Given the description of an element on the screen output the (x, y) to click on. 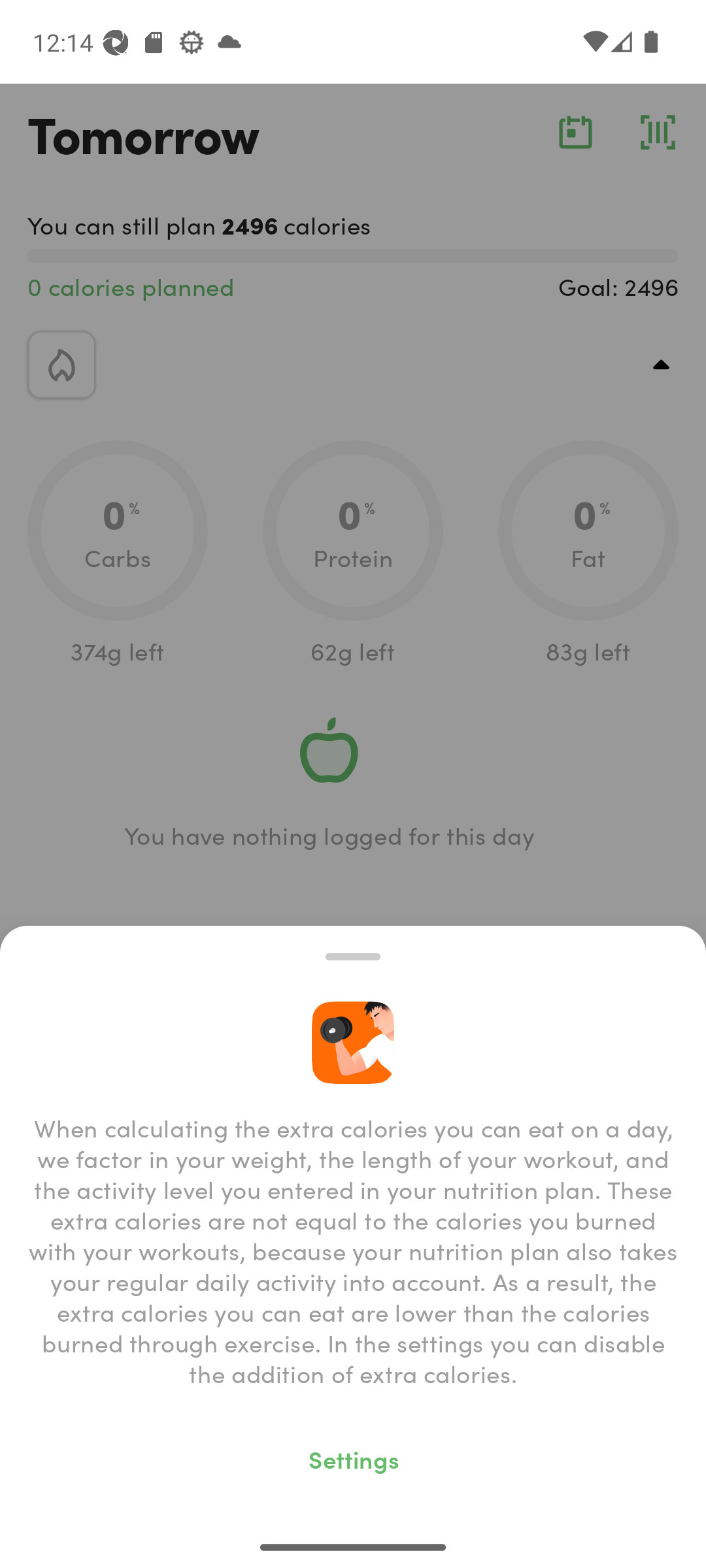
Settings (353, 1458)
